Given the description of an element on the screen output the (x, y) to click on. 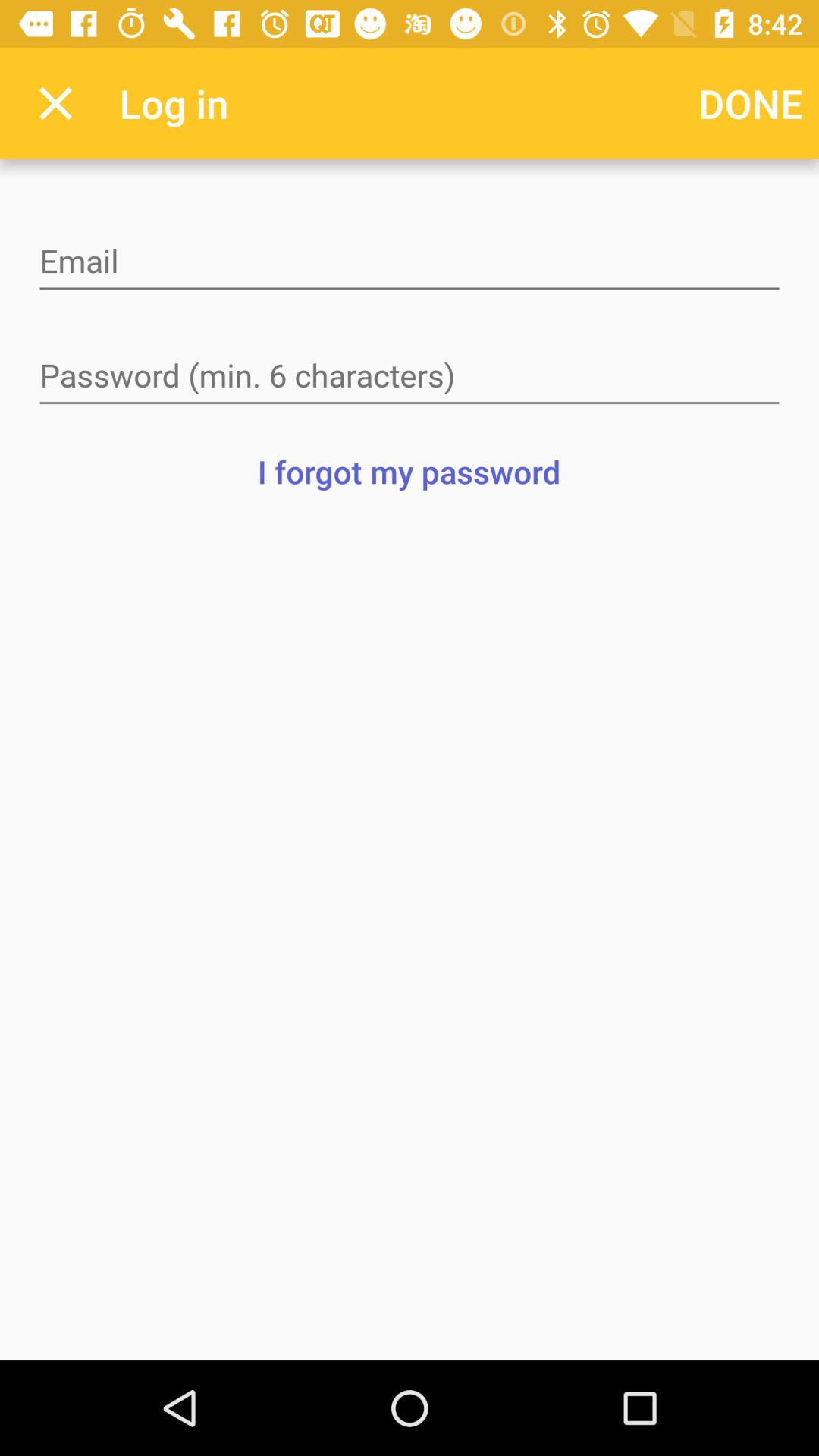
press app next to the log in app (55, 103)
